Given the description of an element on the screen output the (x, y) to click on. 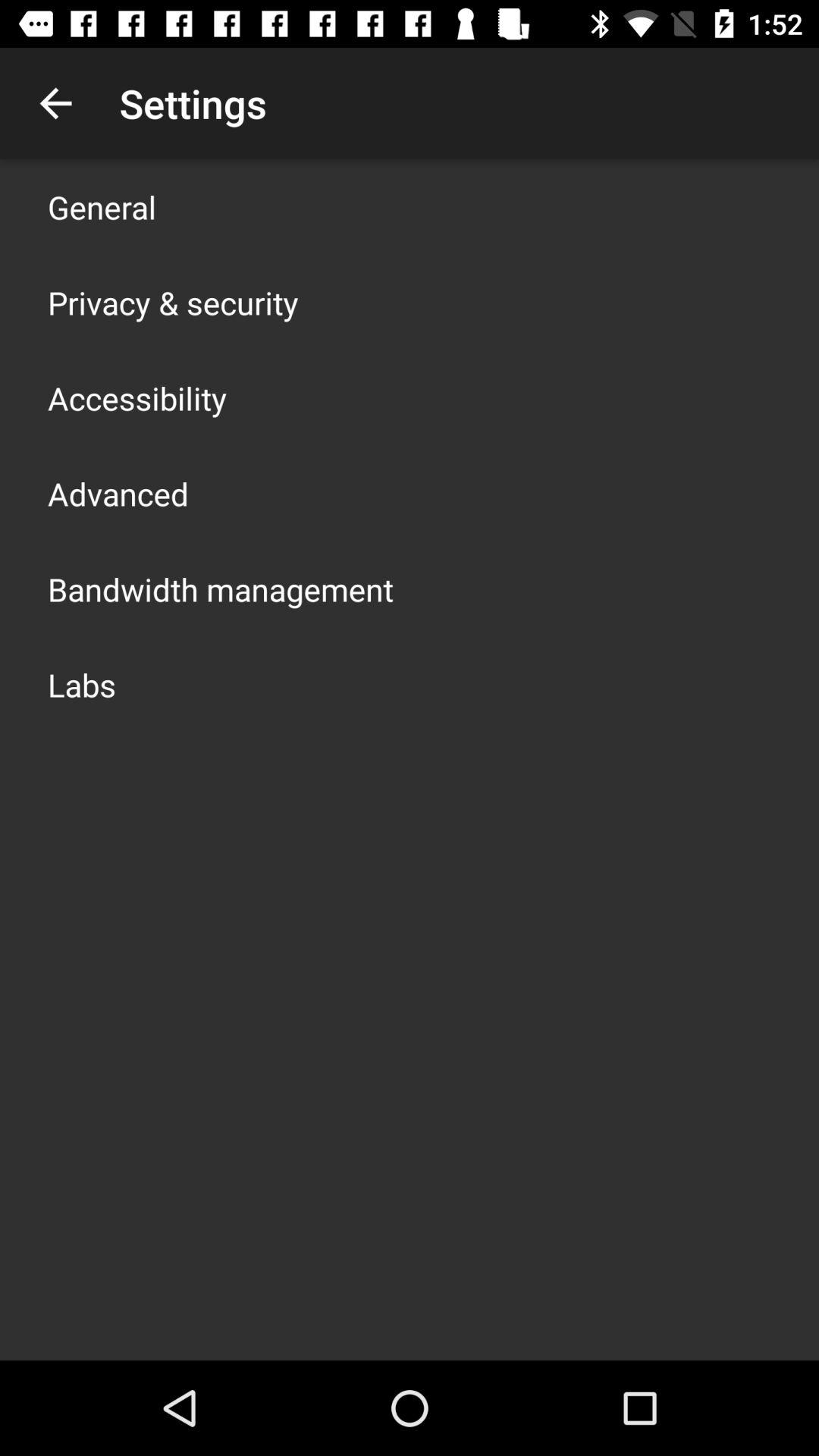
click the app to the left of the settings icon (55, 103)
